Given the description of an element on the screen output the (x, y) to click on. 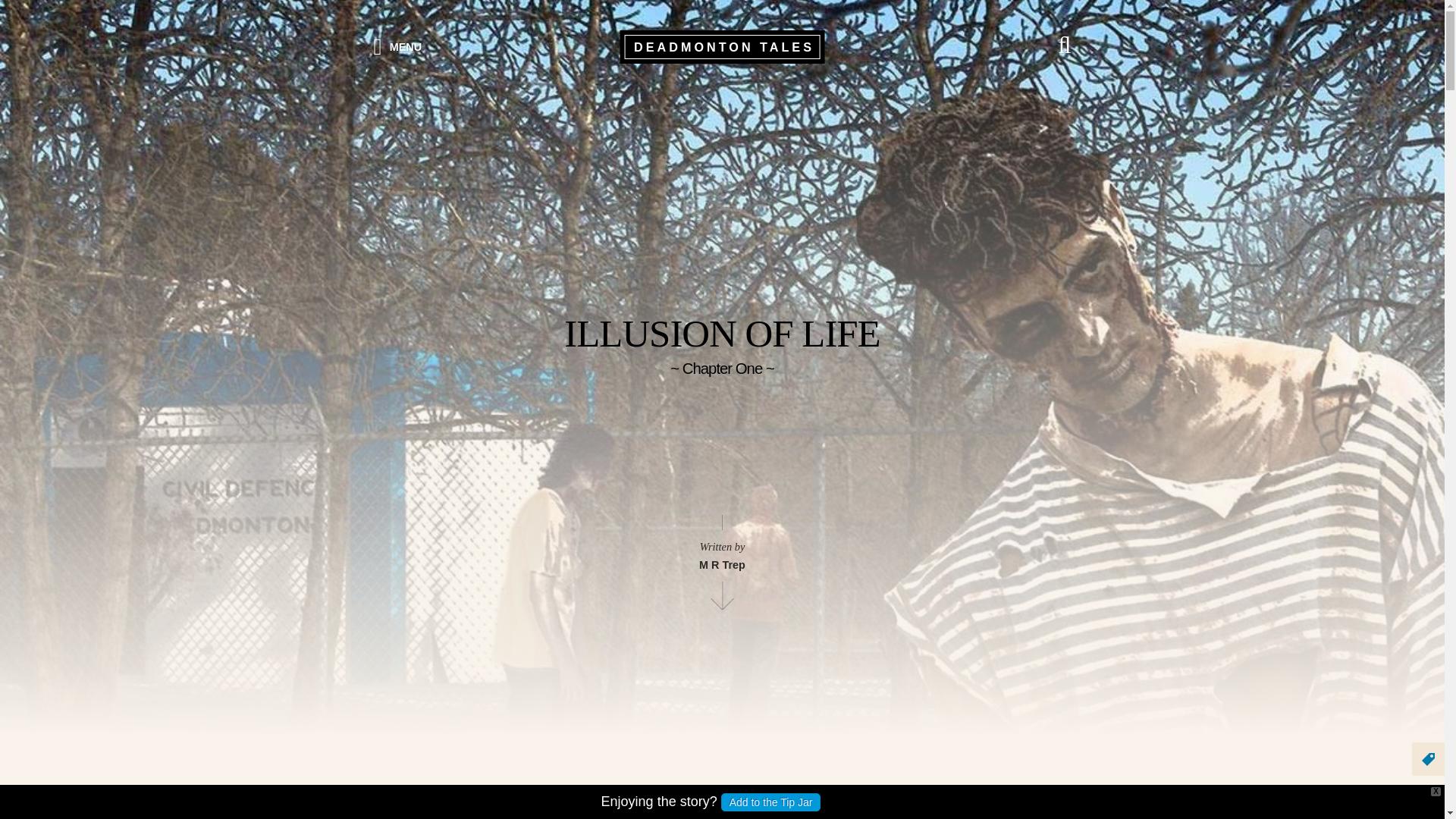
Add to the Tip Jar (770, 802)
Leave a tip for the writer (770, 802)
MENU (397, 43)
navigation menu (397, 43)
Deadmonton Tales (722, 46)
DEADMONTON TALES (722, 46)
